Given the description of an element on the screen output the (x, y) to click on. 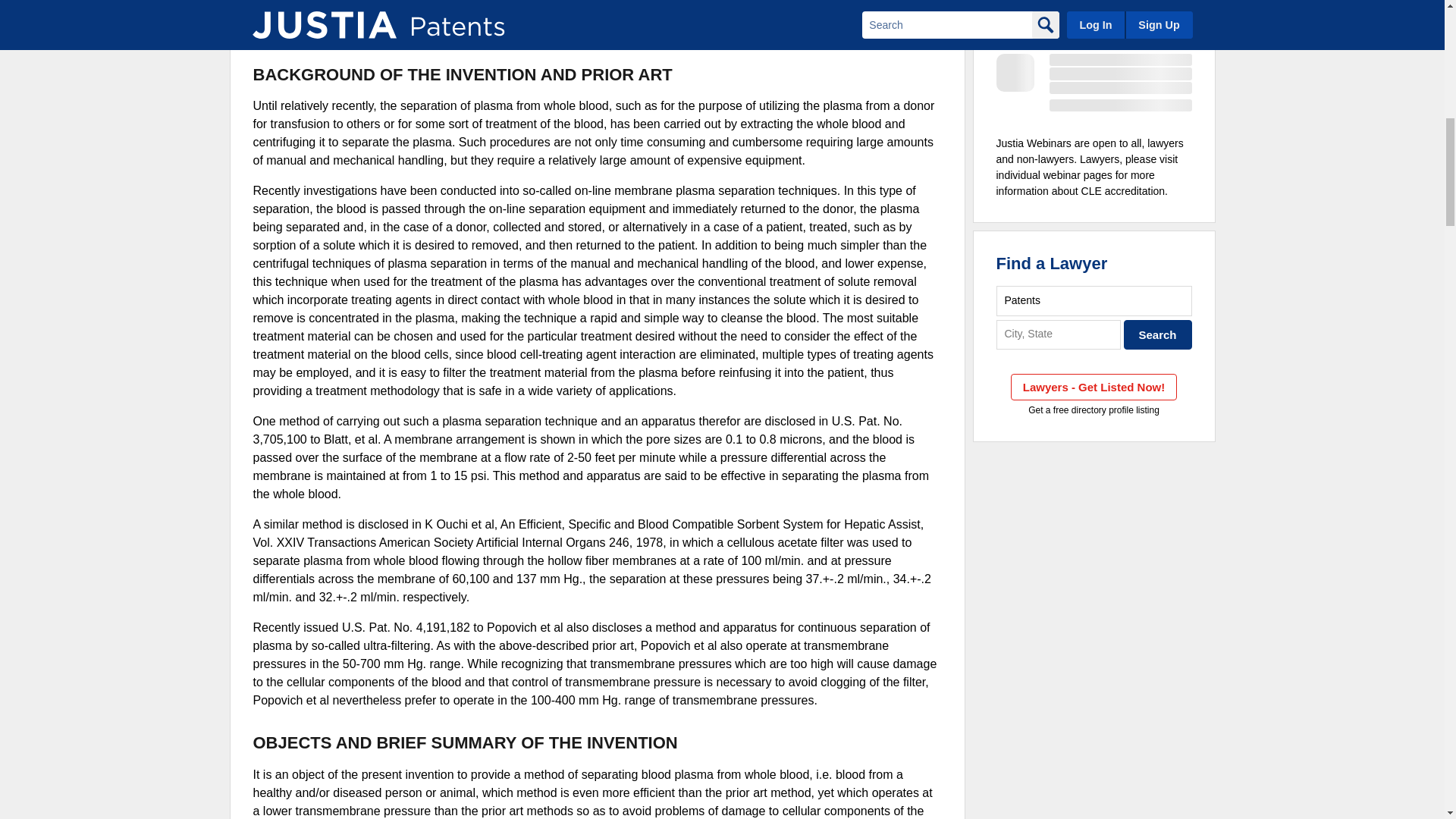
Search (1158, 334)
Search (1158, 334)
Legal Issue or Lawyer Name (1093, 300)
City, State (1058, 334)
Patents (1093, 300)
